Given the description of an element on the screen output the (x, y) to click on. 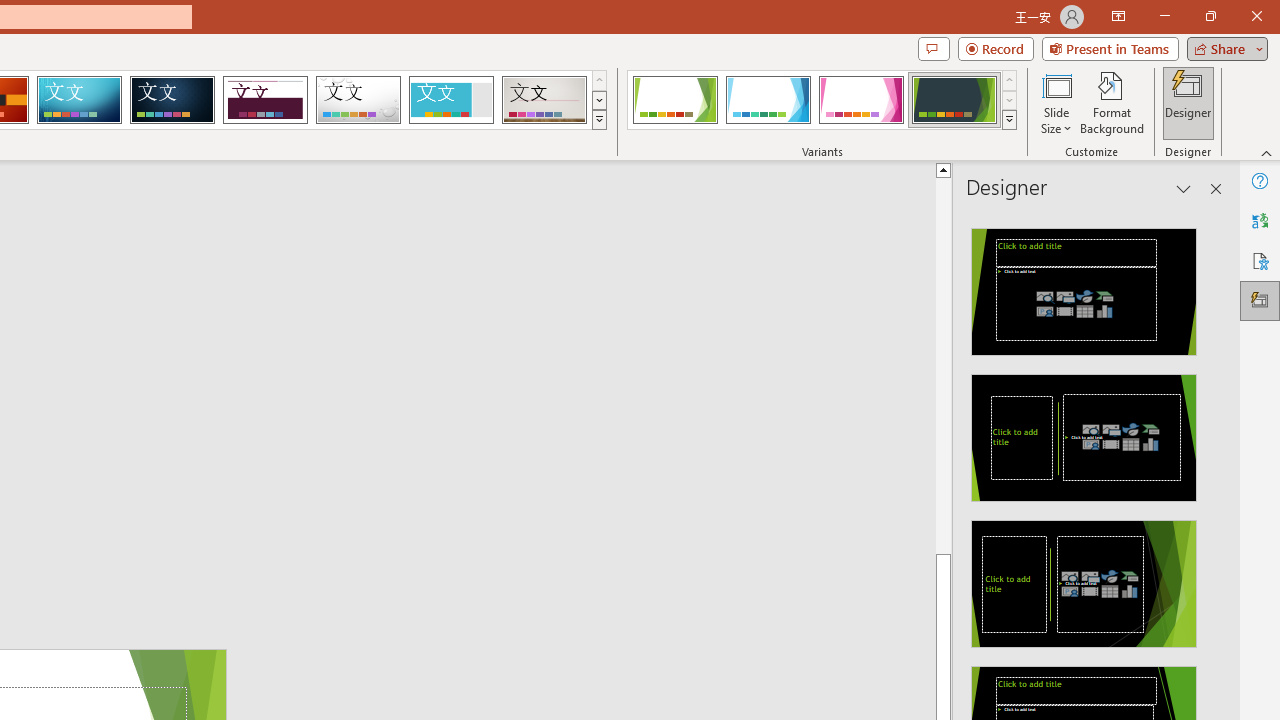
Page up (943, 364)
Droplet (358, 100)
Design Idea (1083, 577)
Damask (171, 100)
